Given the description of an element on the screen output the (x, y) to click on. 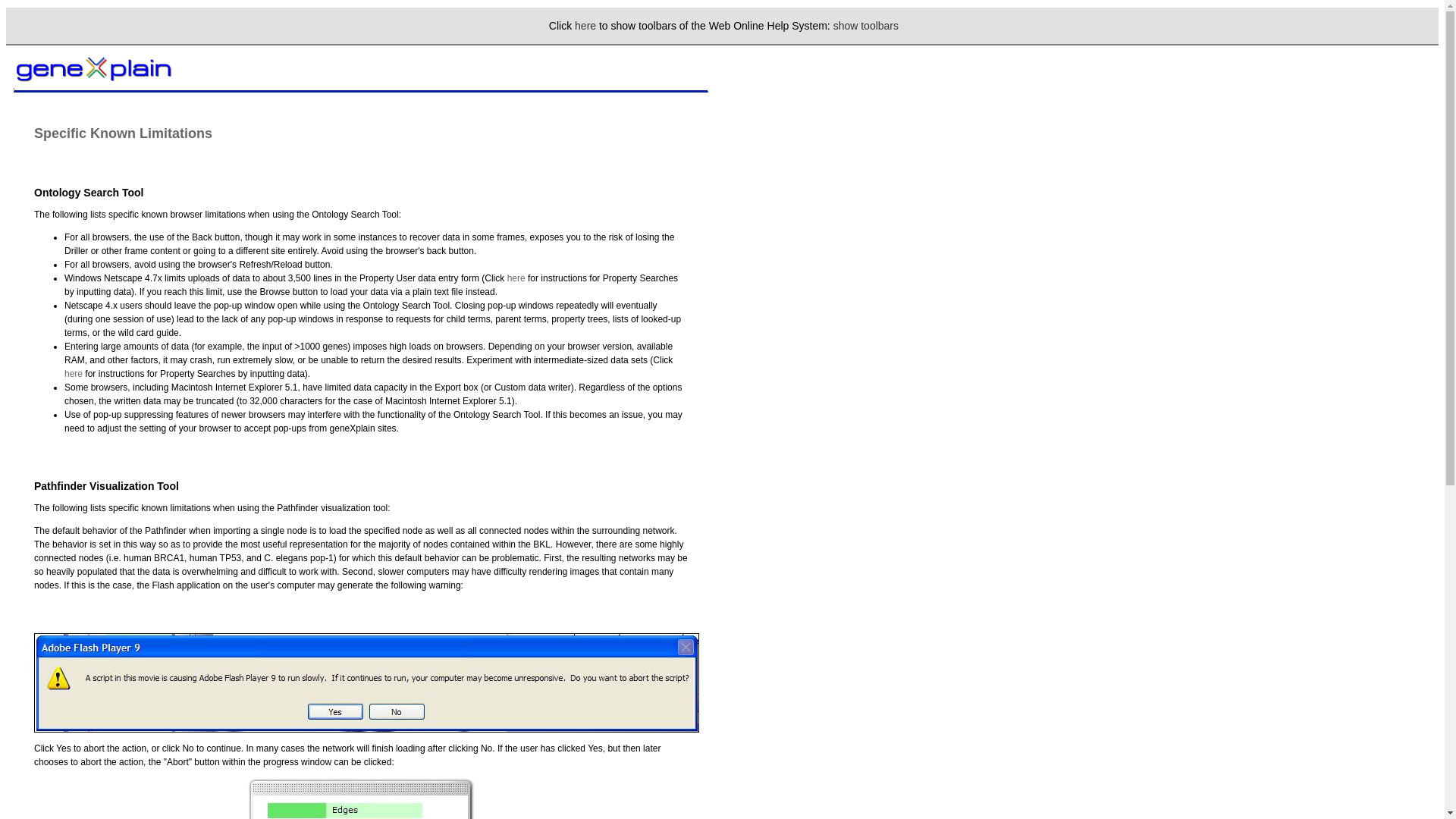
here (585, 25)
here (515, 277)
show toolbars (865, 25)
here (73, 373)
